Given the description of an element on the screen output the (x, y) to click on. 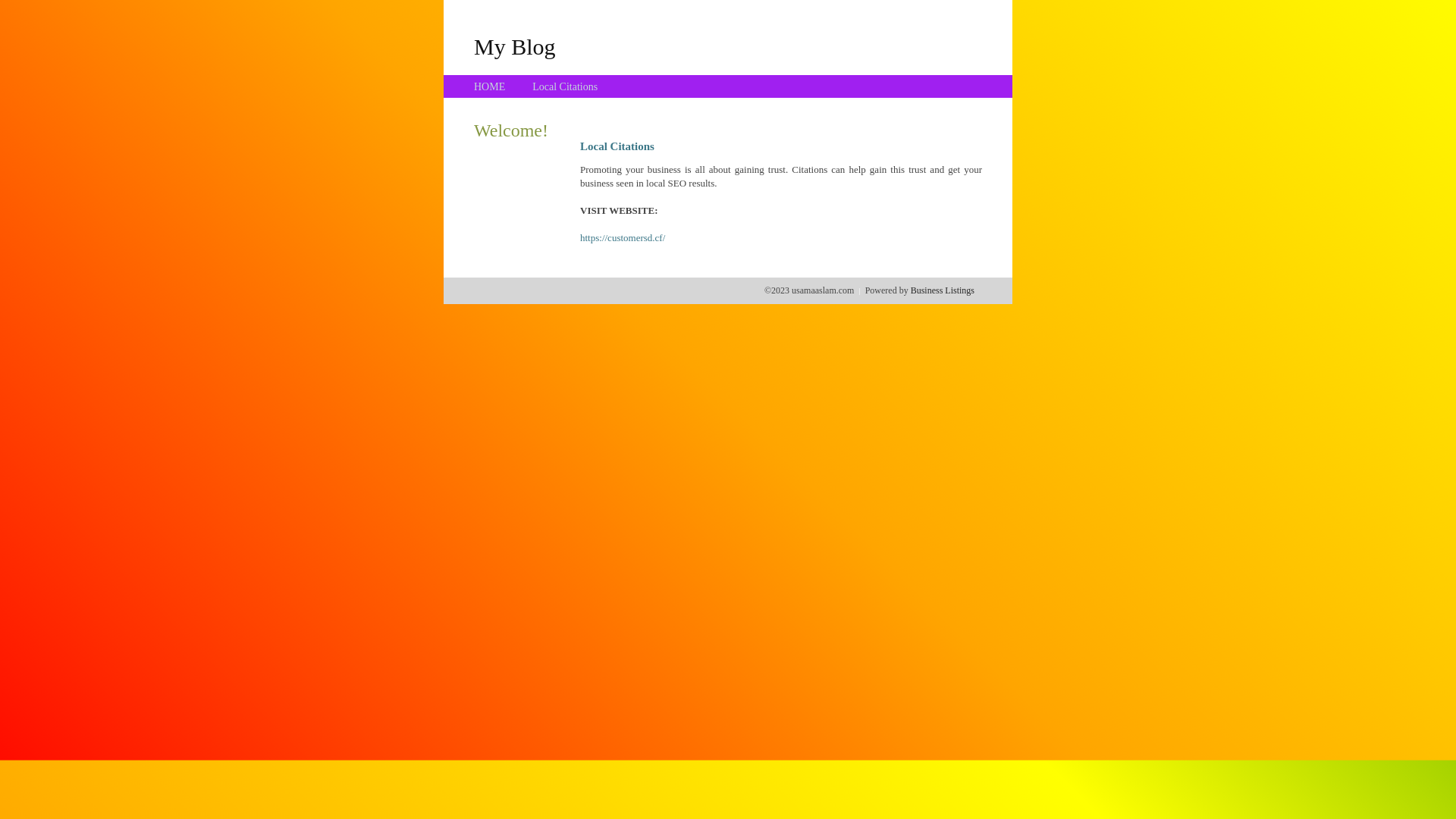
Local Citations Element type: text (564, 86)
My Blog Element type: text (514, 46)
HOME Element type: text (489, 86)
https://customersd.cf/ Element type: text (622, 237)
Business Listings Element type: text (942, 290)
